Given the description of an element on the screen output the (x, y) to click on. 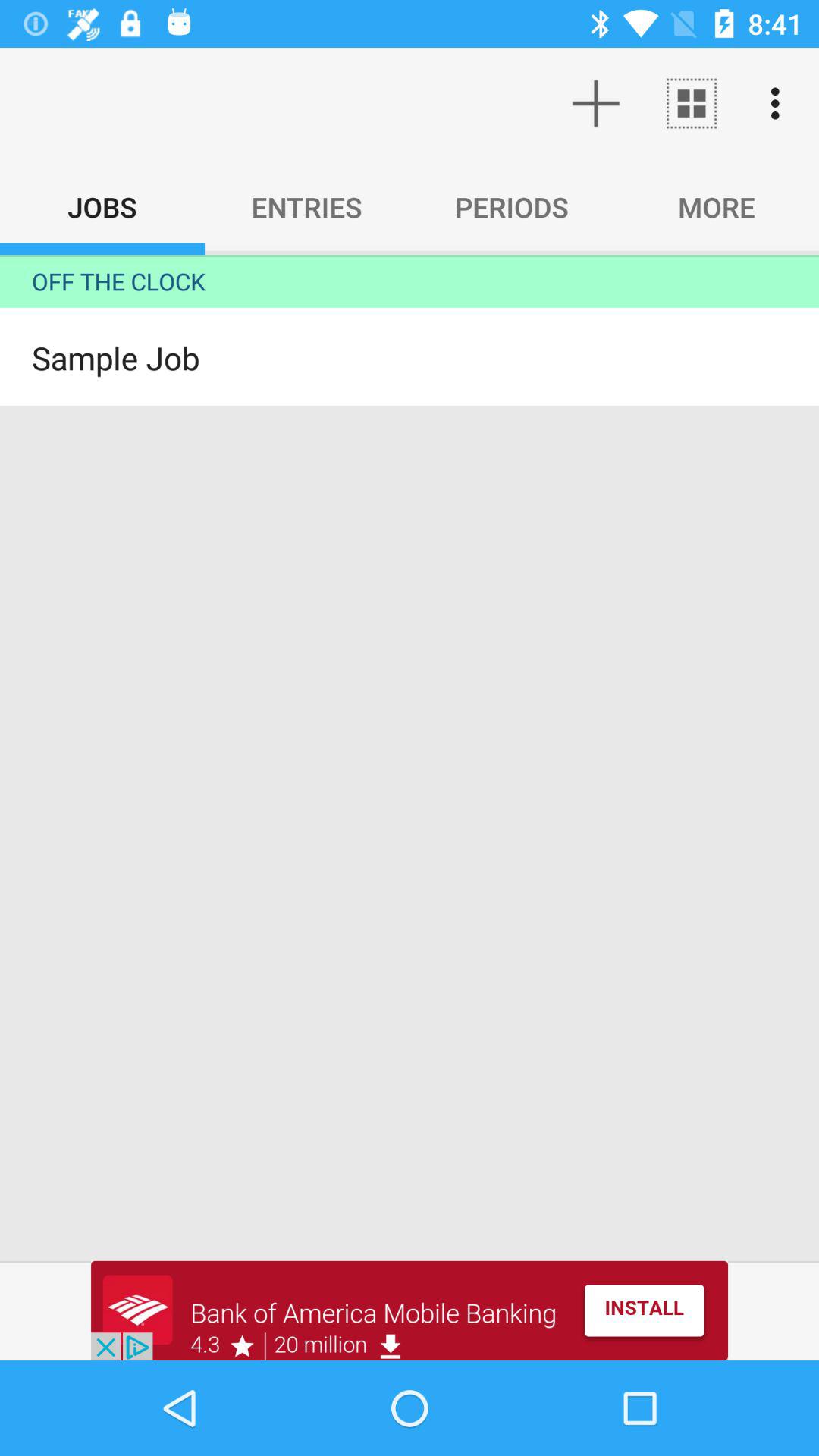
install this app (409, 1310)
